Given the description of an element on the screen output the (x, y) to click on. 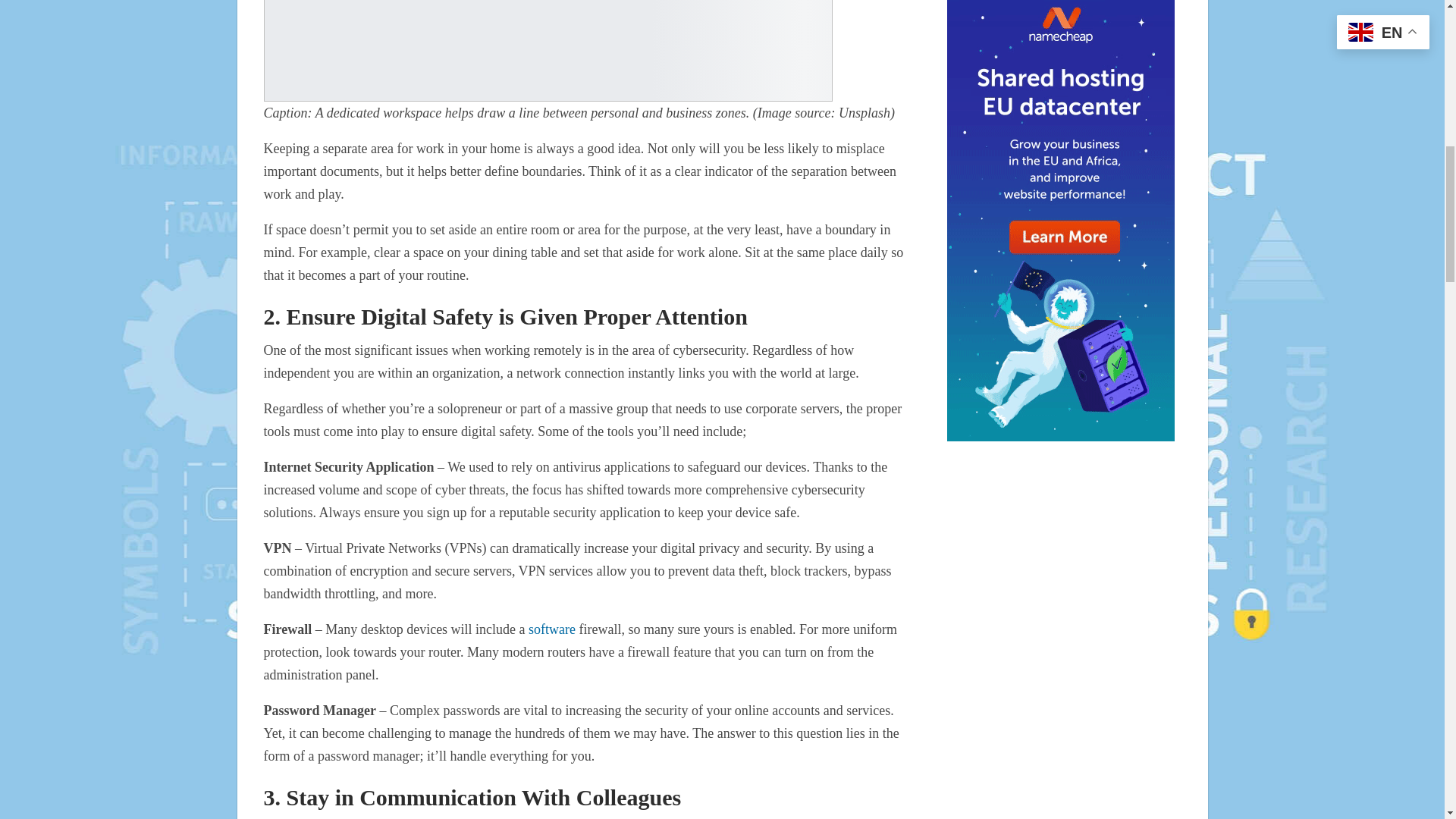
software (551, 629)
